Given the description of an element on the screen output the (x, y) to click on. 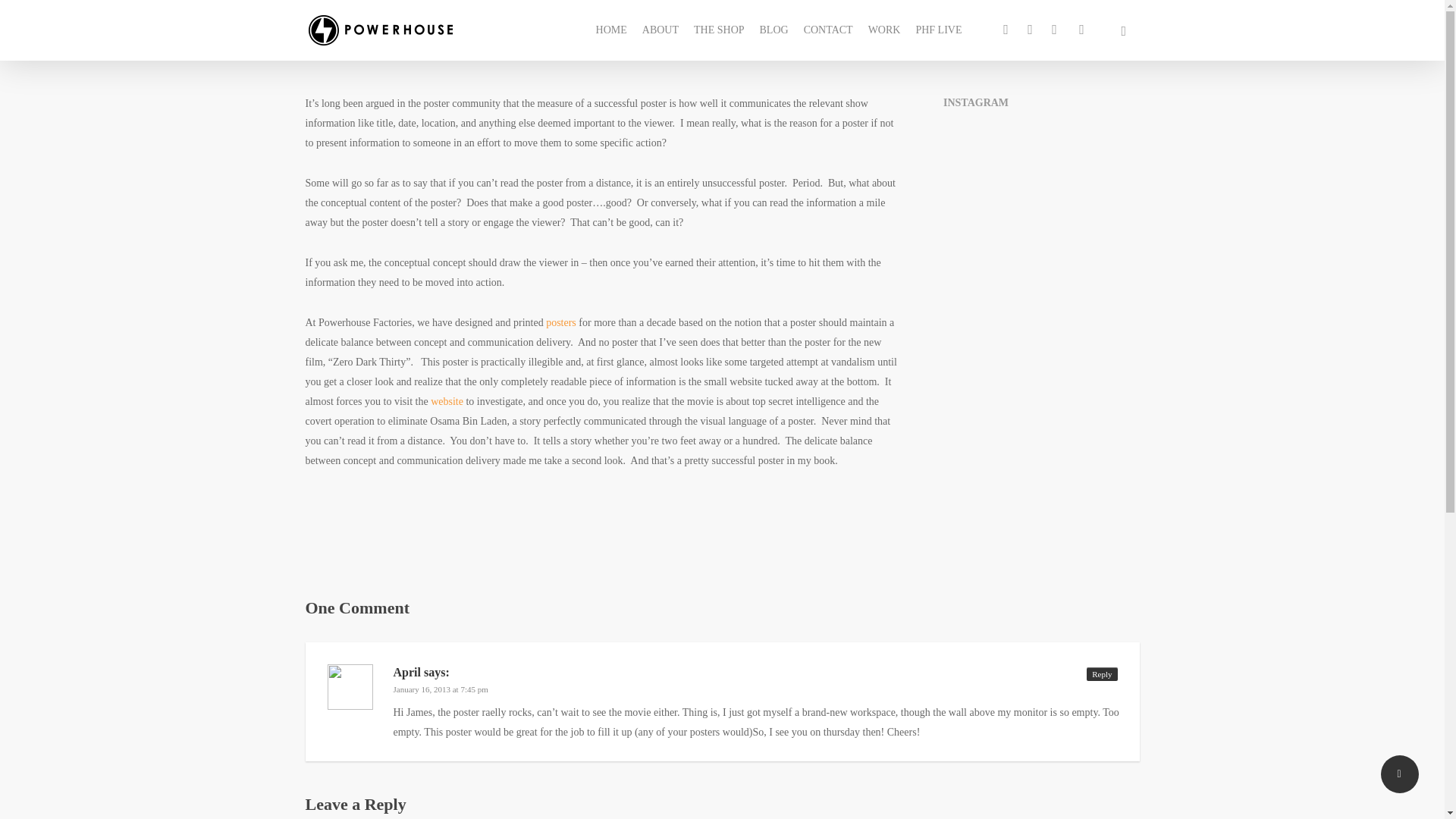
WORK (884, 29)
0 (1155, 37)
Reply (1101, 673)
THE SHOP (718, 29)
PHF LIVE (938, 29)
HOME (611, 29)
April (406, 671)
CONTACT (828, 29)
website (447, 401)
BLOG (774, 29)
posters (561, 322)
January 16, 2013 at 7:45 pm (440, 688)
ABOUT (659, 29)
Zero Dark Thirty movie (447, 401)
